Given the description of an element on the screen output the (x, y) to click on. 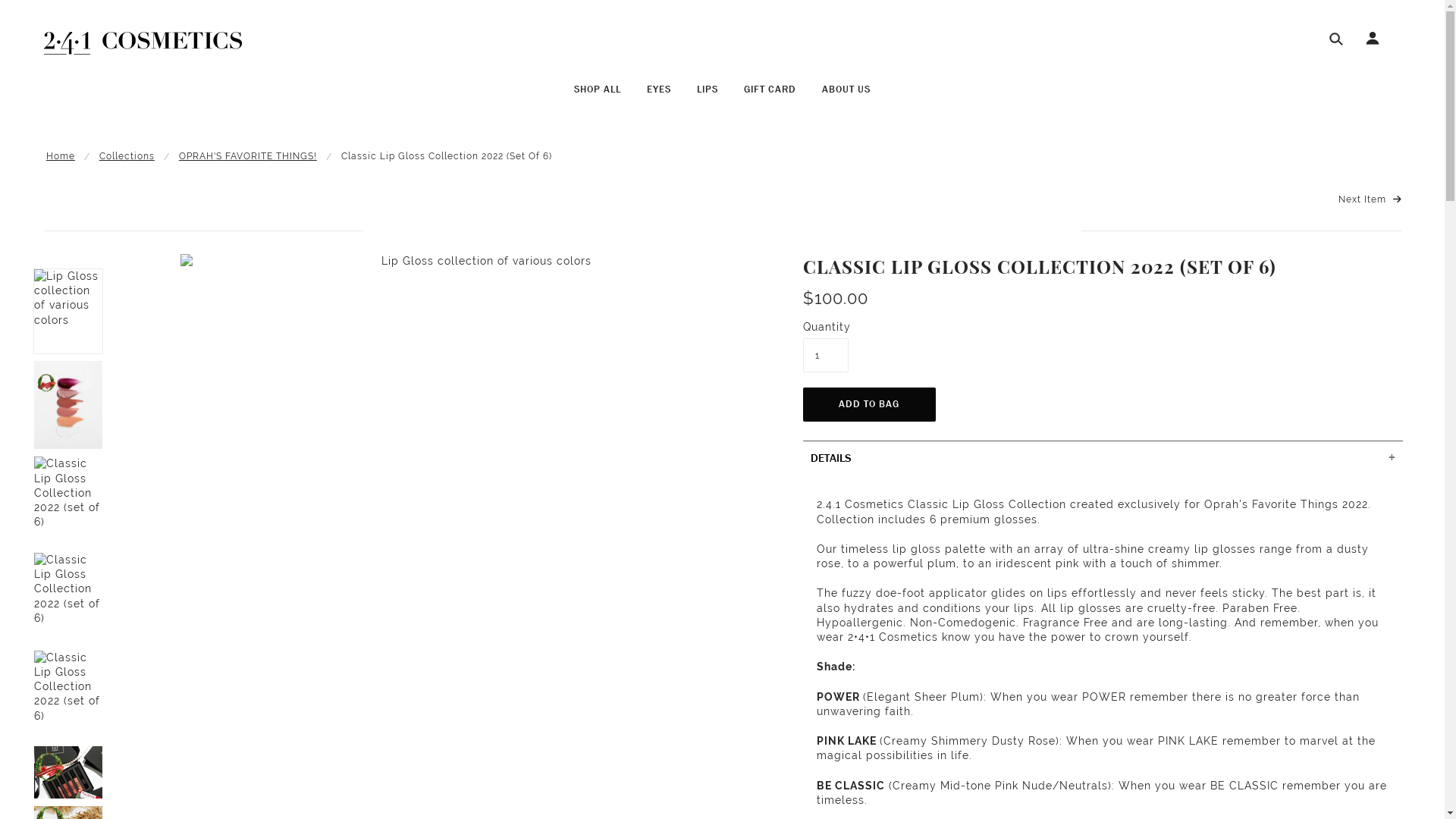
ABOUT US Element type: text (845, 95)
DETAILS Element type: text (1102, 457)
EYES Element type: text (658, 95)
Add to Bag Element type: text (869, 404)
SHOP ALL Element type: text (597, 95)
OPRAH'S FAVORITE THINGS! Element type: text (247, 155)
GIFT CARD Element type: text (769, 95)
Next Item Element type: text (1369, 199)
Collections Element type: text (126, 155)
Home Element type: text (60, 155)
LIPS Element type: text (707, 95)
